Given the description of an element on the screen output the (x, y) to click on. 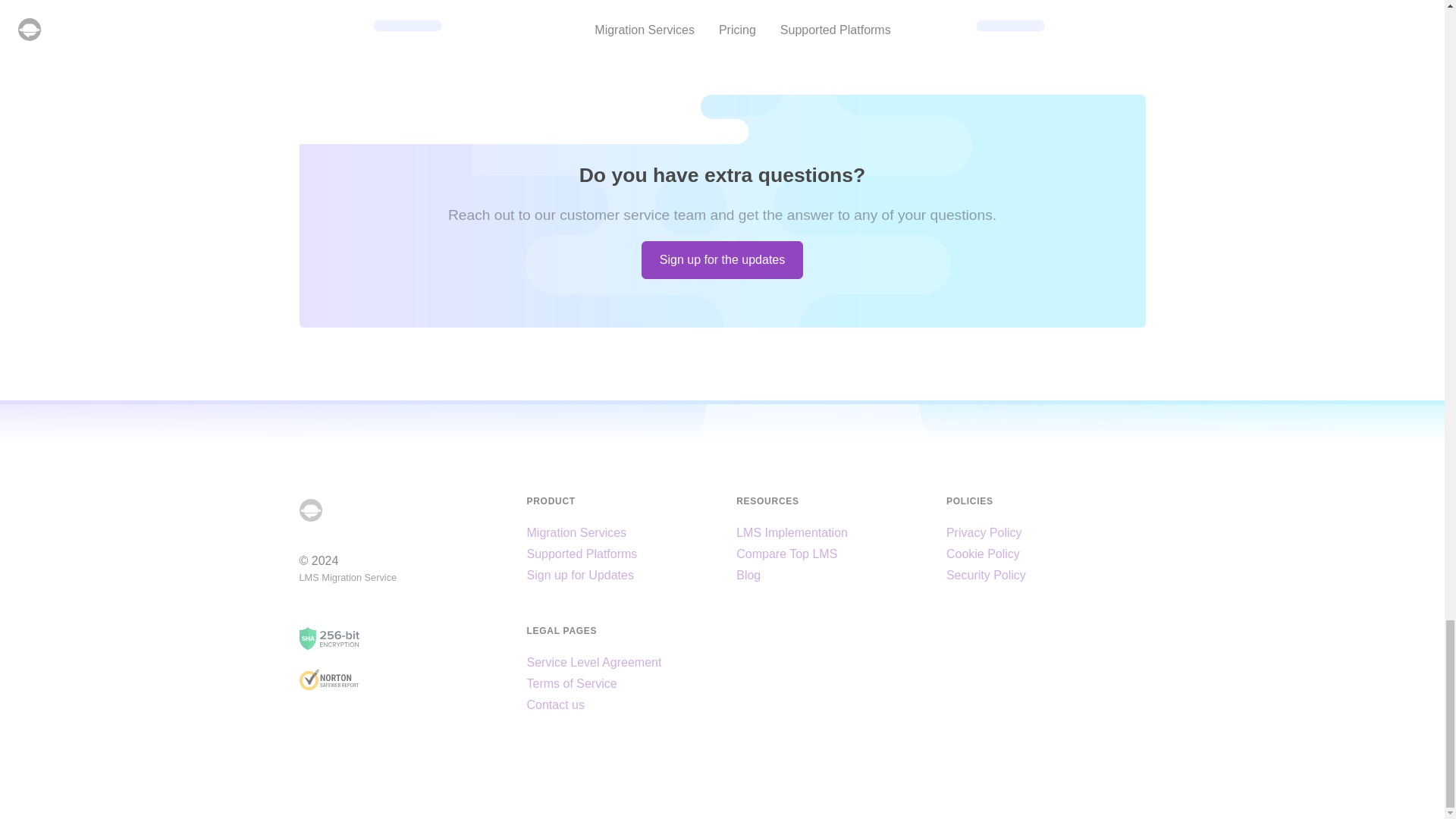
Blog (748, 574)
Compare Top LMS (786, 553)
Sign up for the updates (722, 259)
Privacy Policy (984, 532)
Contact us (554, 704)
Service Level Agreement (593, 662)
Migration Services (575, 532)
Security Policy (986, 574)
LMS Implementation (791, 532)
Supported Platforms (581, 553)
Terms of Service (570, 683)
Cookie Policy (983, 553)
Sign up for Updates (579, 574)
